Given the description of an element on the screen output the (x, y) to click on. 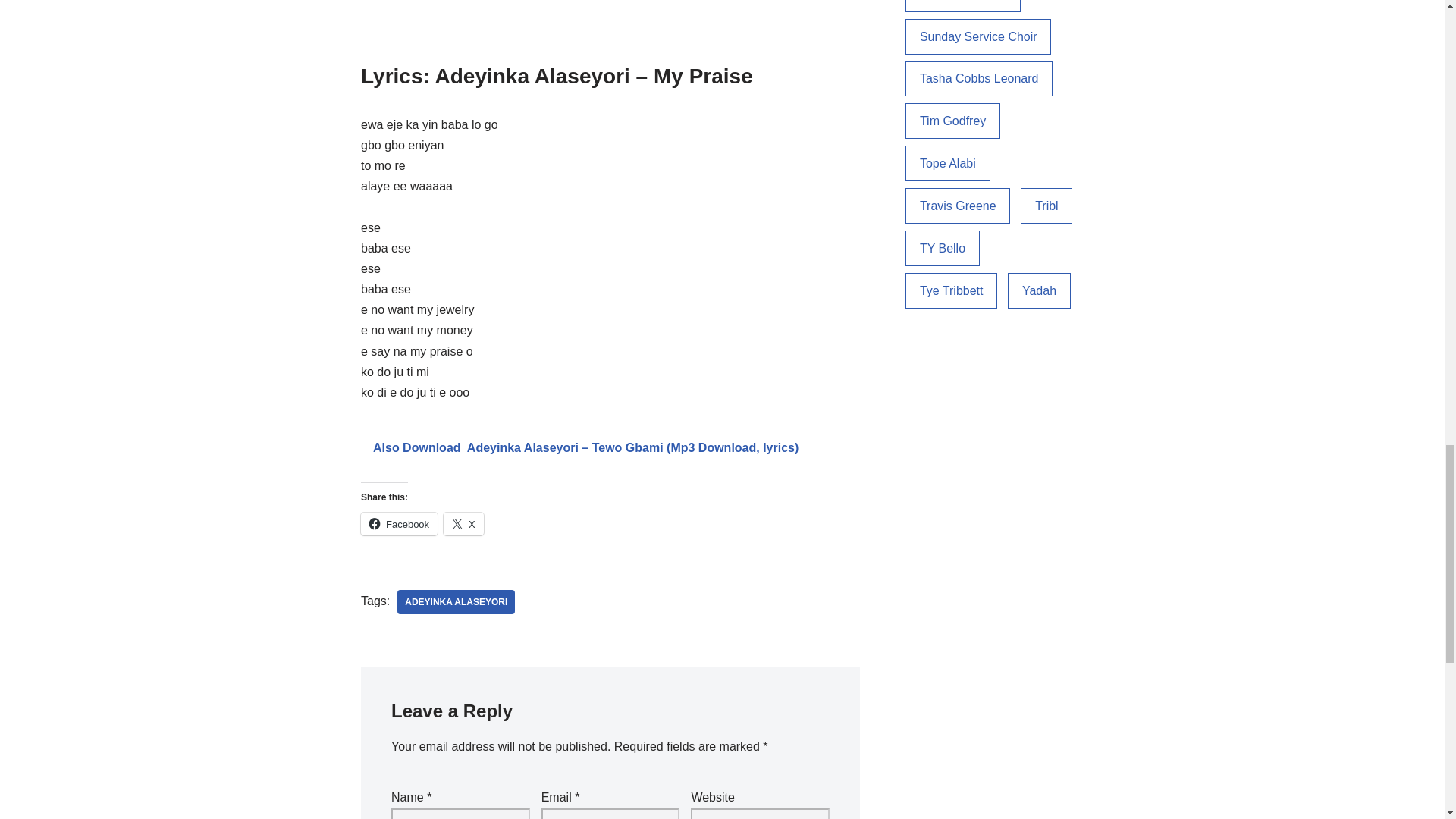
Click to share on Facebook (399, 523)
Click to share on X (463, 523)
Adeyinka Alaseyori (456, 601)
My Praise (610, 24)
